Given the description of an element on the screen output the (x, y) to click on. 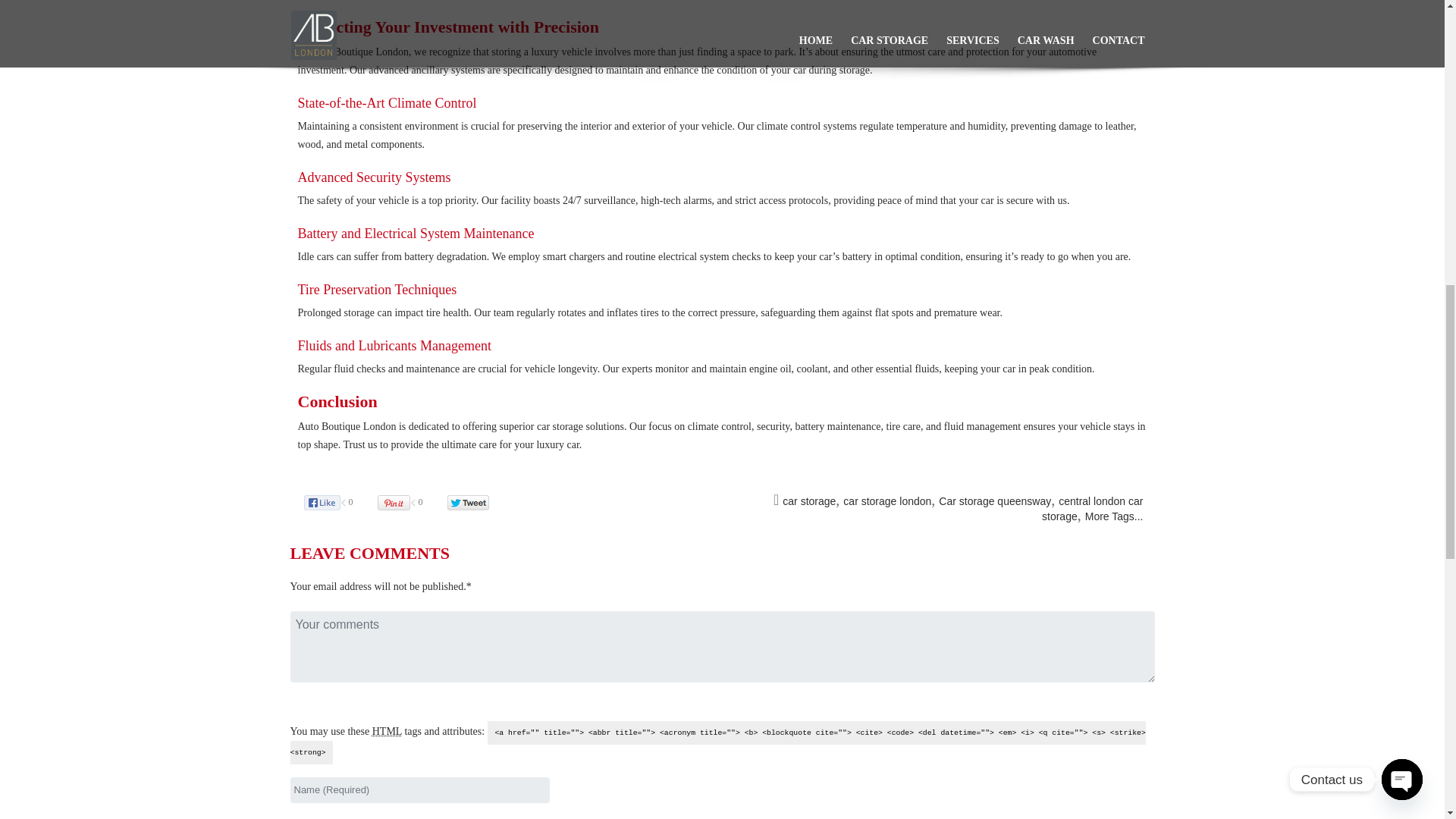
car storage london Tag (887, 500)
HyperText Markup Language (386, 731)
Car storage queensway (995, 500)
car storage Tag (809, 500)
central london car storage Tag (1092, 508)
Share link on Twitter (474, 502)
Car storage queensway Tag (995, 500)
Share image on Pinterest (409, 502)
central london car storage (1092, 508)
car storage london (887, 500)
More Tags... (1113, 516)
Share link on Facebook (336, 502)
car storage (809, 500)
